Given the description of an element on the screen output the (x, y) to click on. 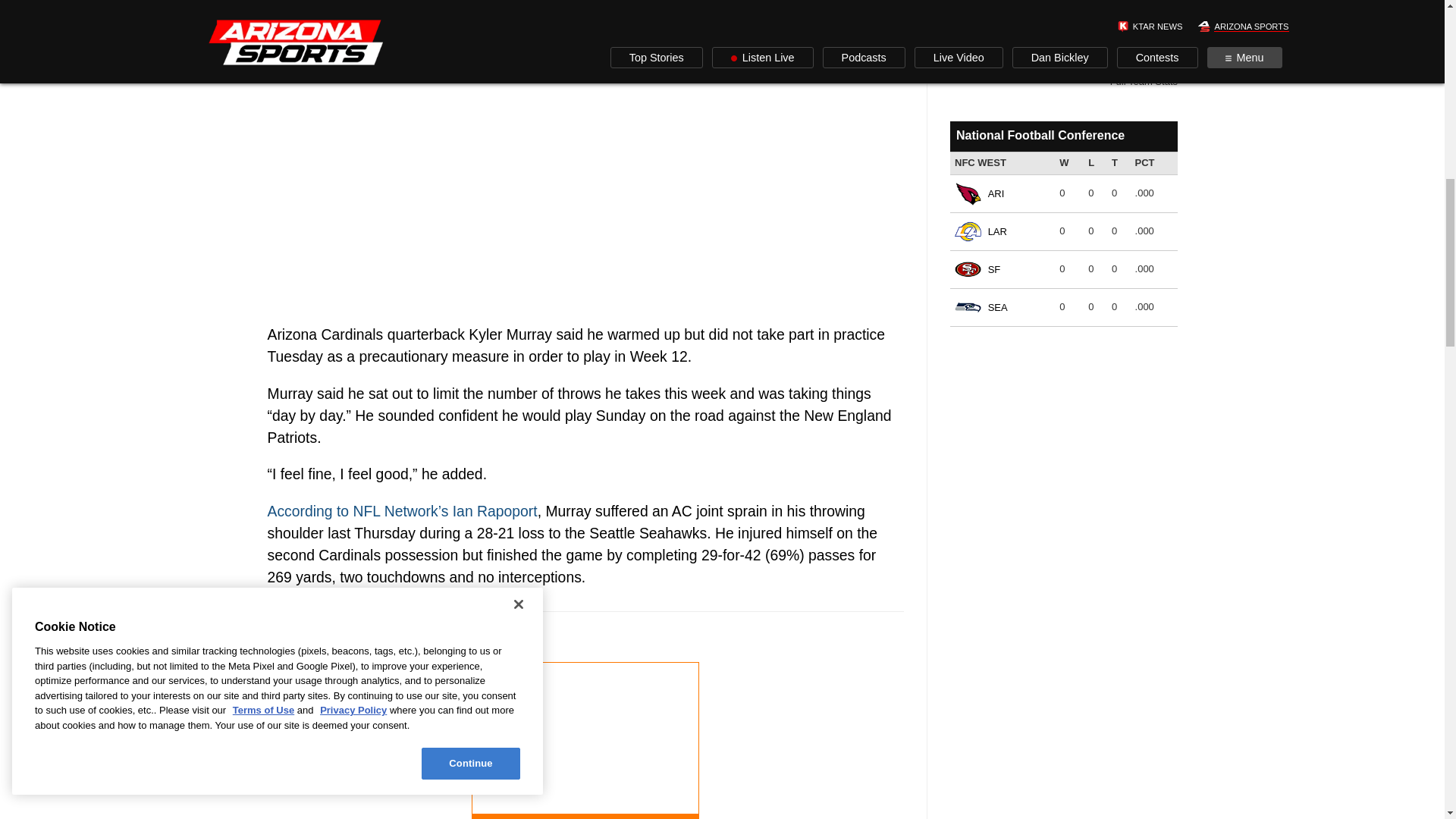
3rd party ad content (584, 726)
widget (1062, 223)
widget (1062, 47)
